Given the description of an element on the screen output the (x, y) to click on. 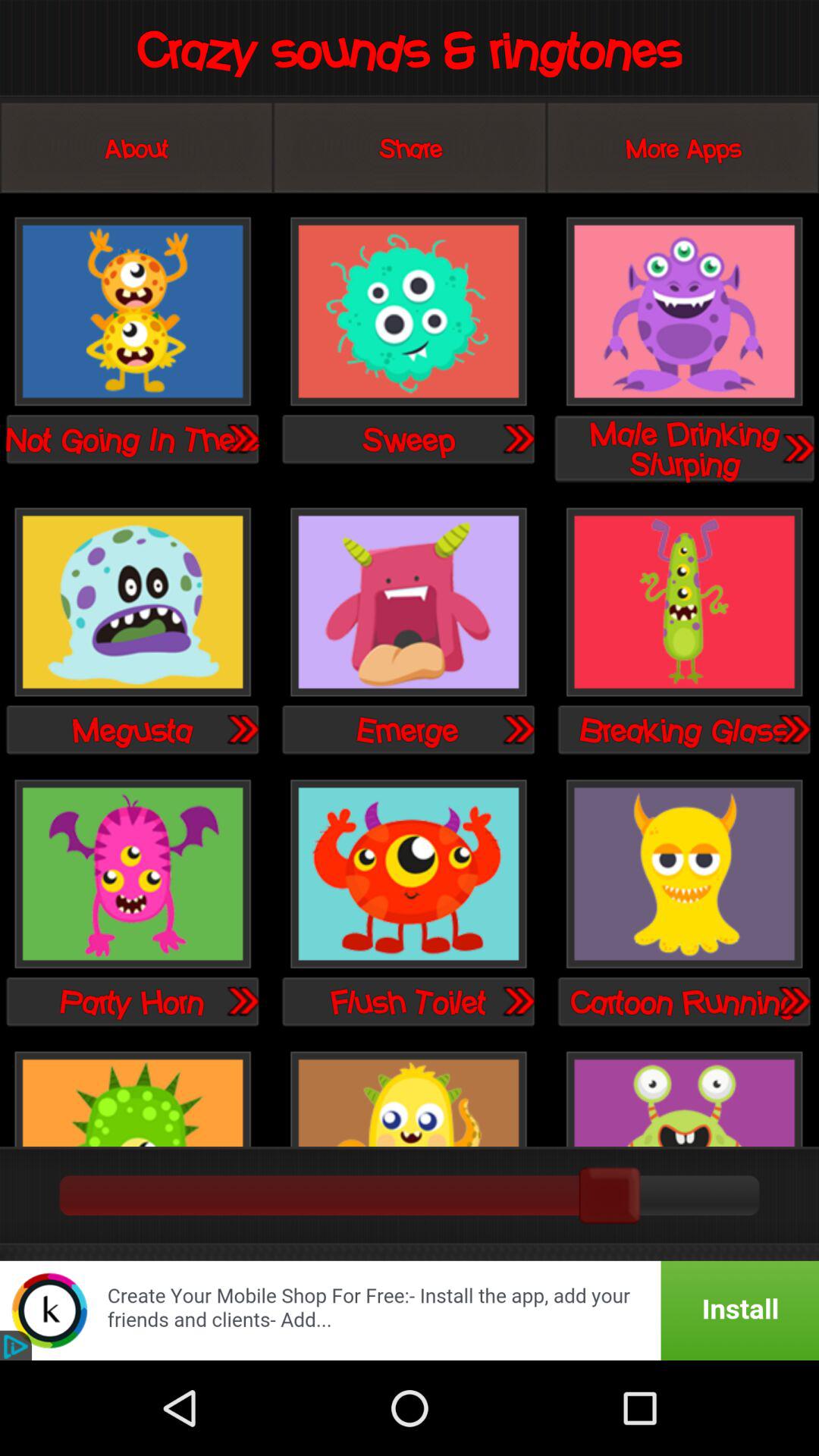
play (518, 1000)
